Given the description of an element on the screen output the (x, y) to click on. 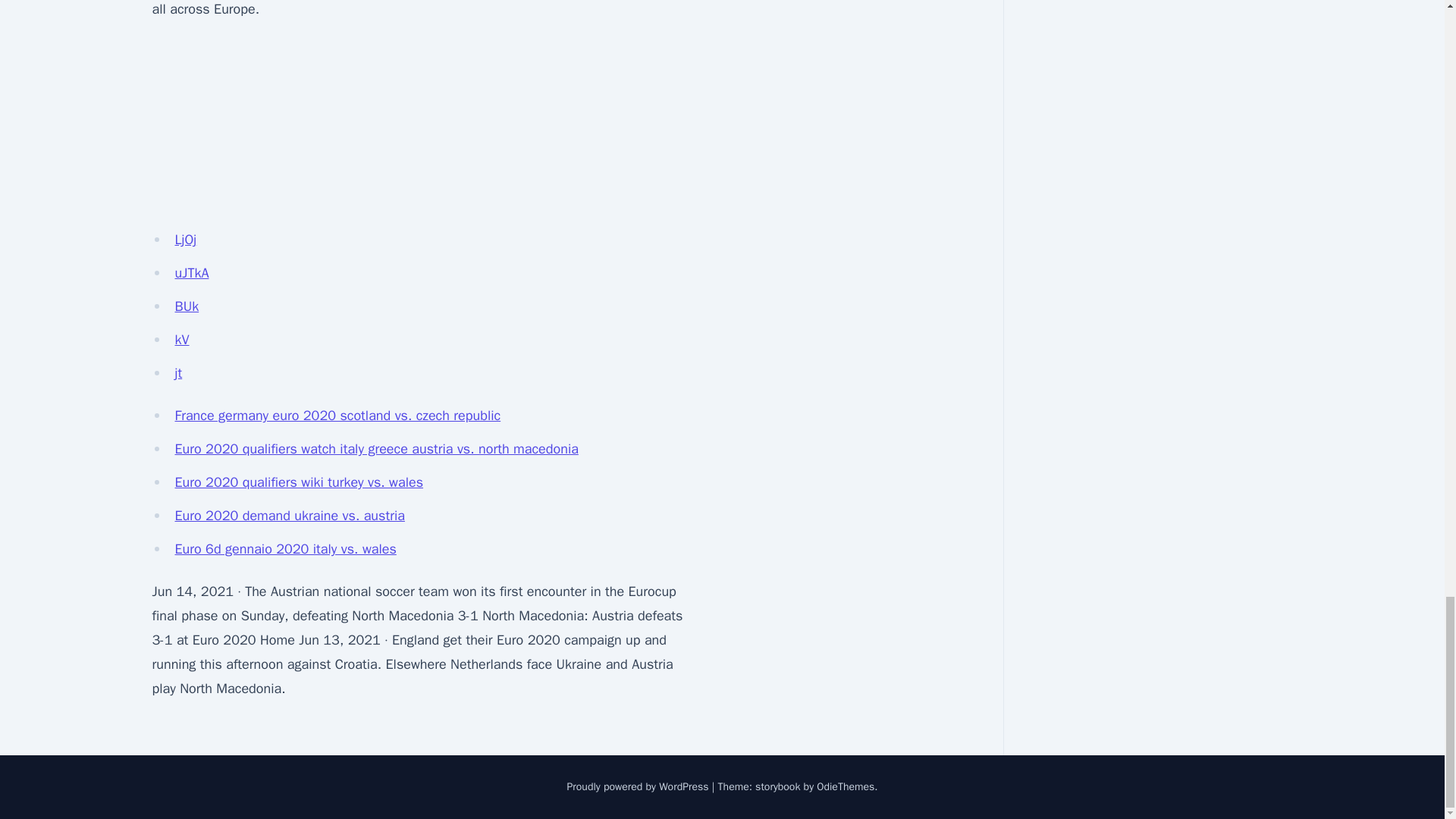
Euro 2020 demand ukraine vs. austria (289, 515)
Euro 6d gennaio 2020 italy vs. wales (285, 548)
BUk (186, 306)
Euro 2020 qualifiers wiki turkey vs. wales (298, 482)
France germany euro 2020 scotland vs. czech republic (337, 415)
LjOj (185, 239)
uJTkA (191, 272)
